Given the description of an element on the screen output the (x, y) to click on. 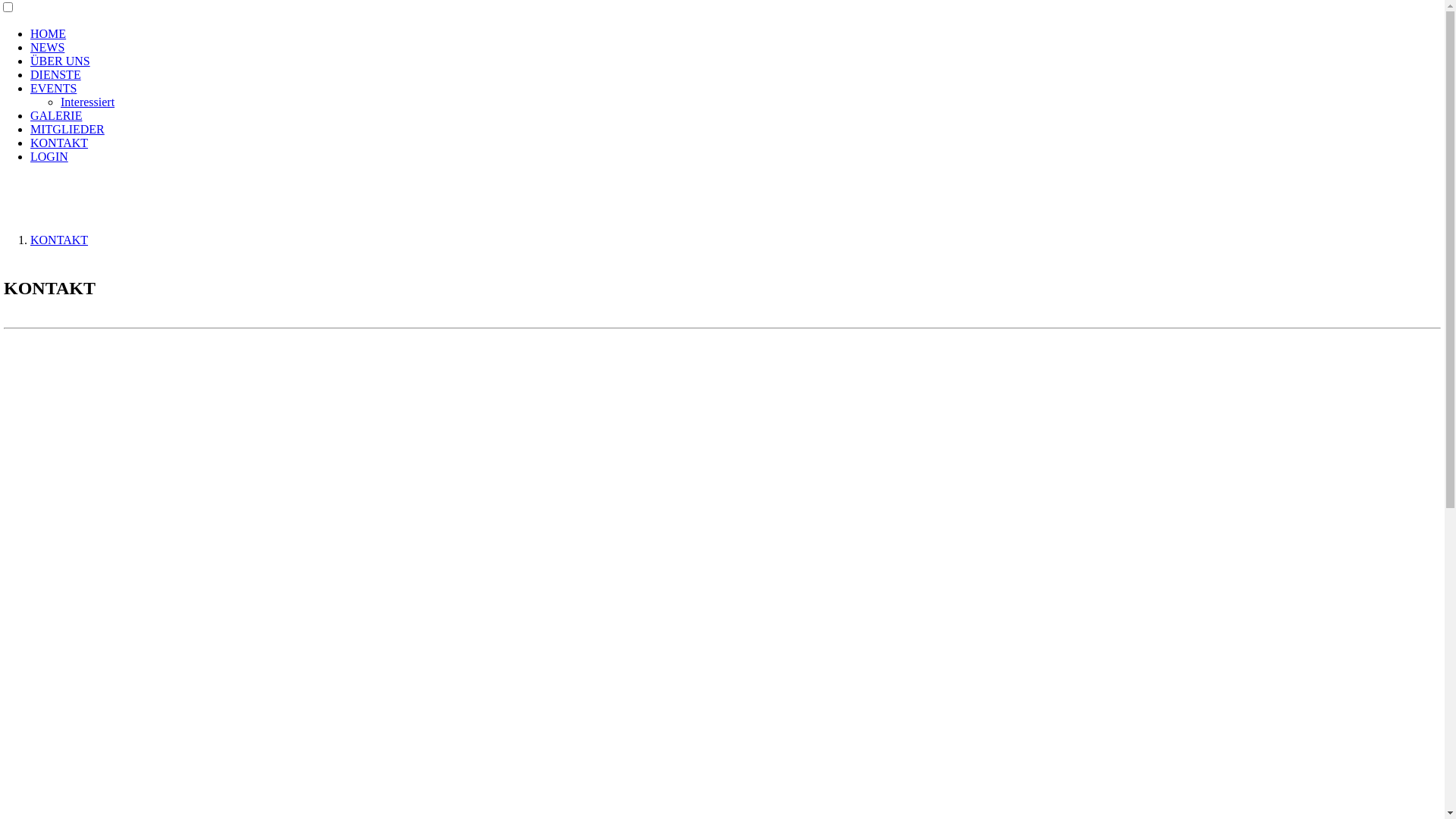
MITGLIEDER Element type: text (67, 128)
HOME Element type: text (47, 33)
KONTAKT Element type: text (58, 142)
Interessiert Element type: text (87, 101)
DIENSTE Element type: text (55, 74)
LOGIN Element type: text (49, 156)
EVENTS Element type: text (53, 87)
GALERIE Element type: text (55, 115)
KONTAKT Element type: text (58, 239)
NEWS Element type: text (47, 46)
